Given the description of an element on the screen output the (x, y) to click on. 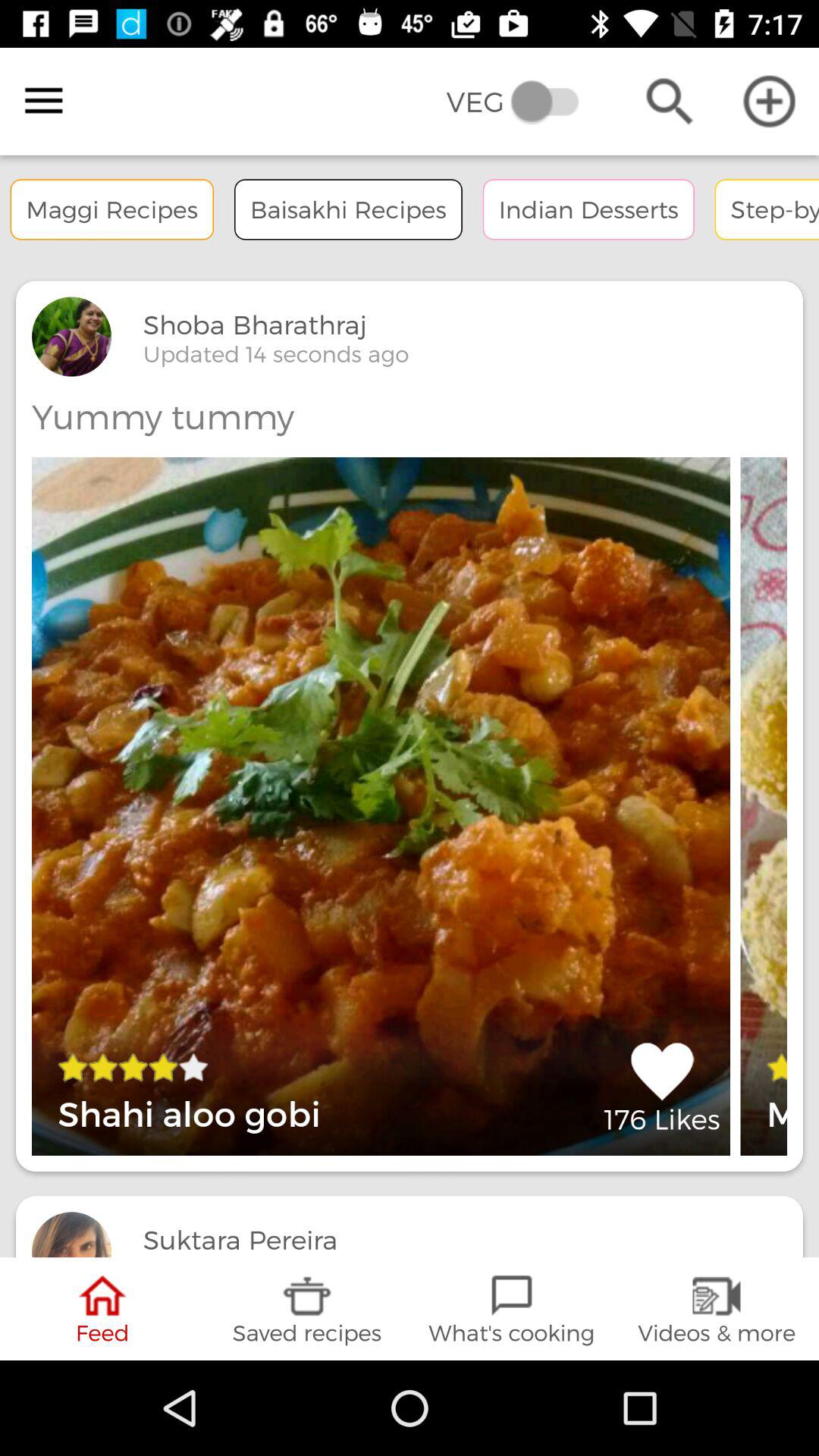
choose the shoba bharathraj (254, 324)
